Given the description of an element on the screen output the (x, y) to click on. 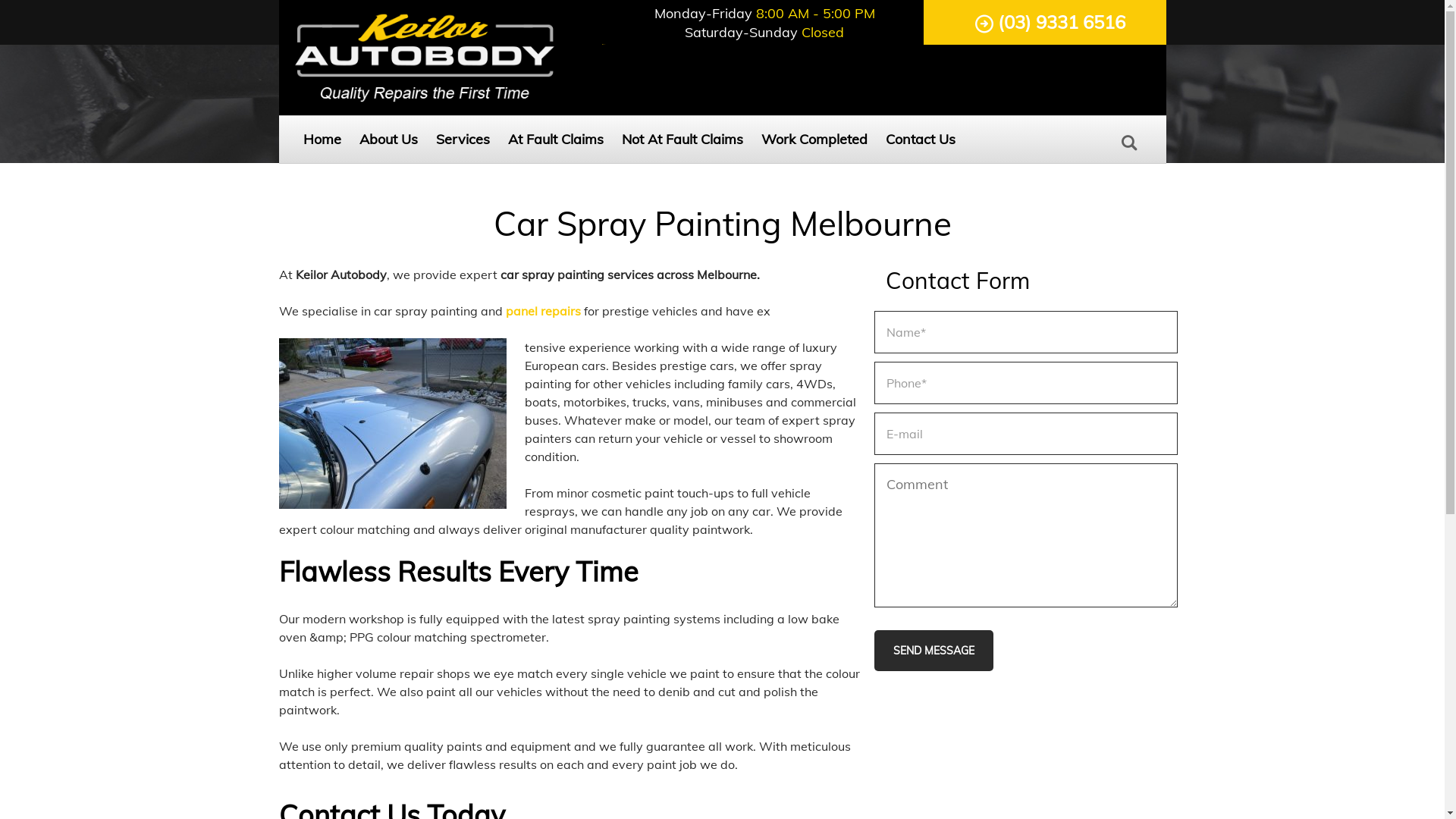
Services Element type: text (462, 139)
Contact Us Element type: text (920, 139)
panel repairs Element type: text (542, 310)
(03) 9331 6516 Element type: text (1049, 22)
About Us Element type: text (388, 139)
Work Completed Element type: text (814, 139)
Send Message Element type: text (932, 650)
Not At Fault Claims Element type: text (682, 139)
At Fault Claims Element type: text (555, 139)
Home Element type: text (322, 139)
